Given the description of an element on the screen output the (x, y) to click on. 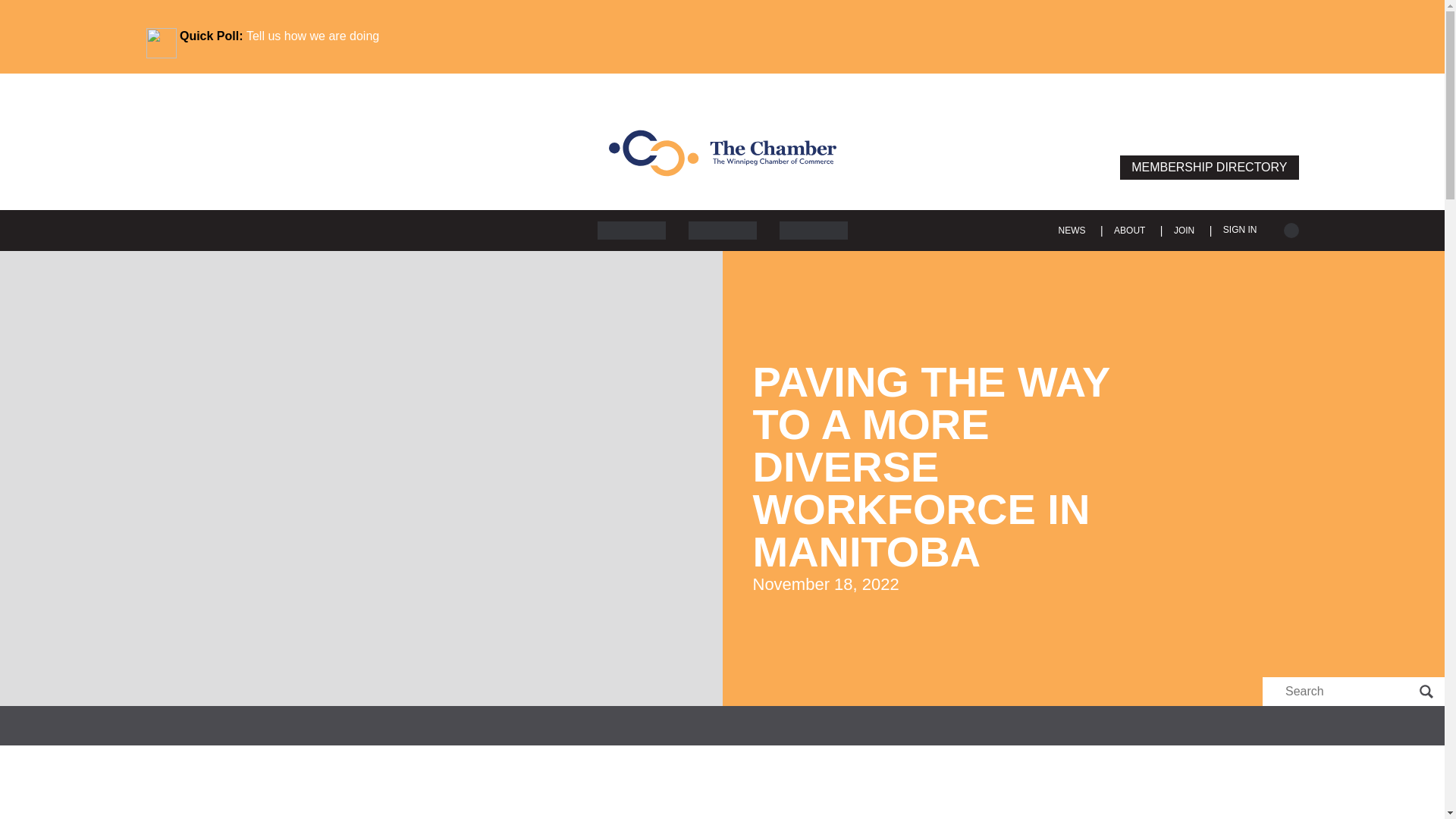
JOIN (1184, 230)
MEMBERSHIP DIRECTORY (1208, 167)
NEWS (1071, 230)
SIGN IN (1240, 229)
Tell us how we are doing (312, 35)
ABOUT (1128, 230)
